Given the description of an element on the screen output the (x, y) to click on. 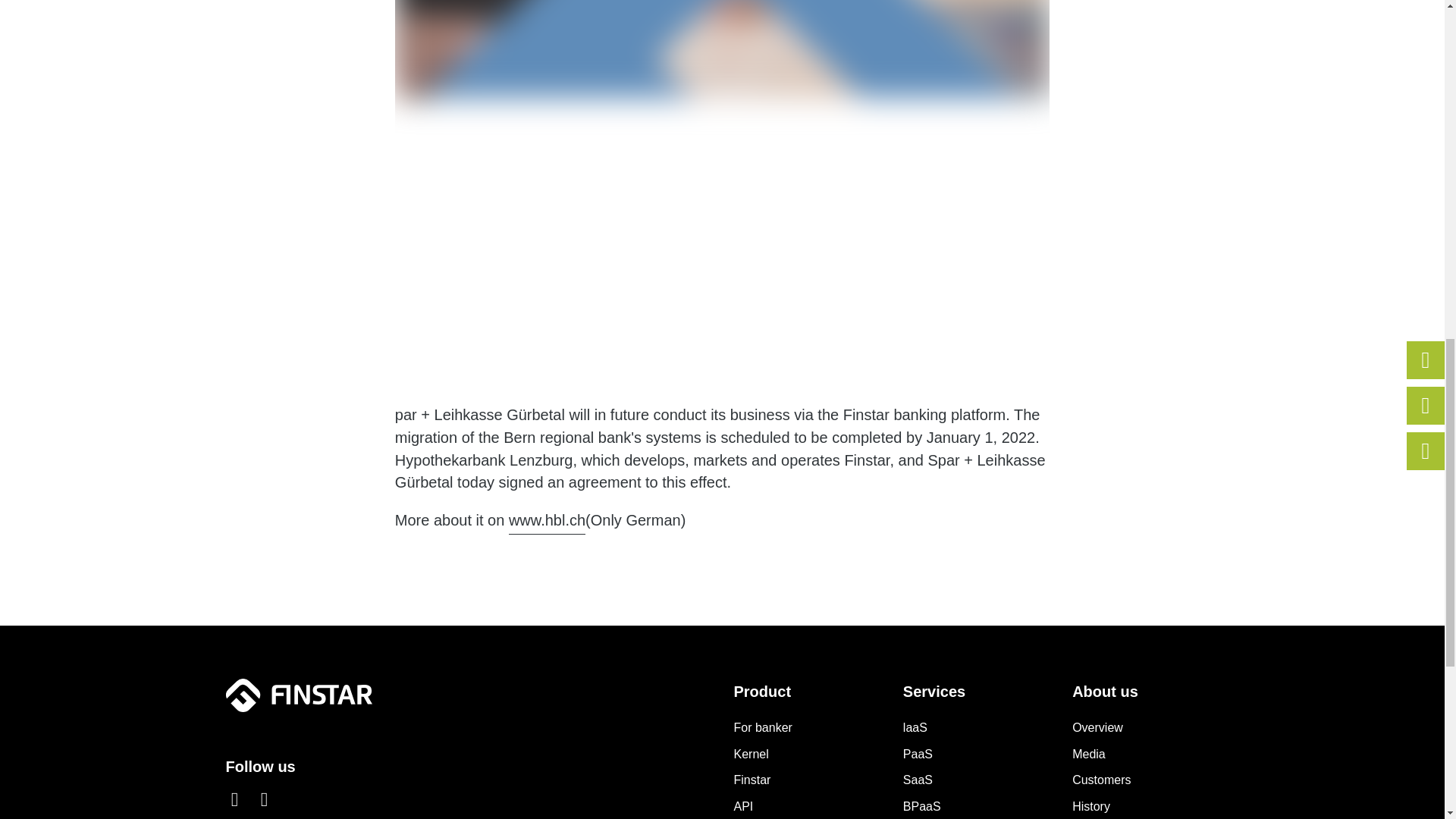
Overview (1096, 729)
BPaaS (921, 807)
www.hbl.ch (546, 521)
Kernel (750, 755)
PaaS (917, 755)
LinkedIn (234, 800)
API (743, 807)
History (1090, 807)
Customers (1101, 781)
SaaS (917, 781)
